Given the description of an element on the screen output the (x, y) to click on. 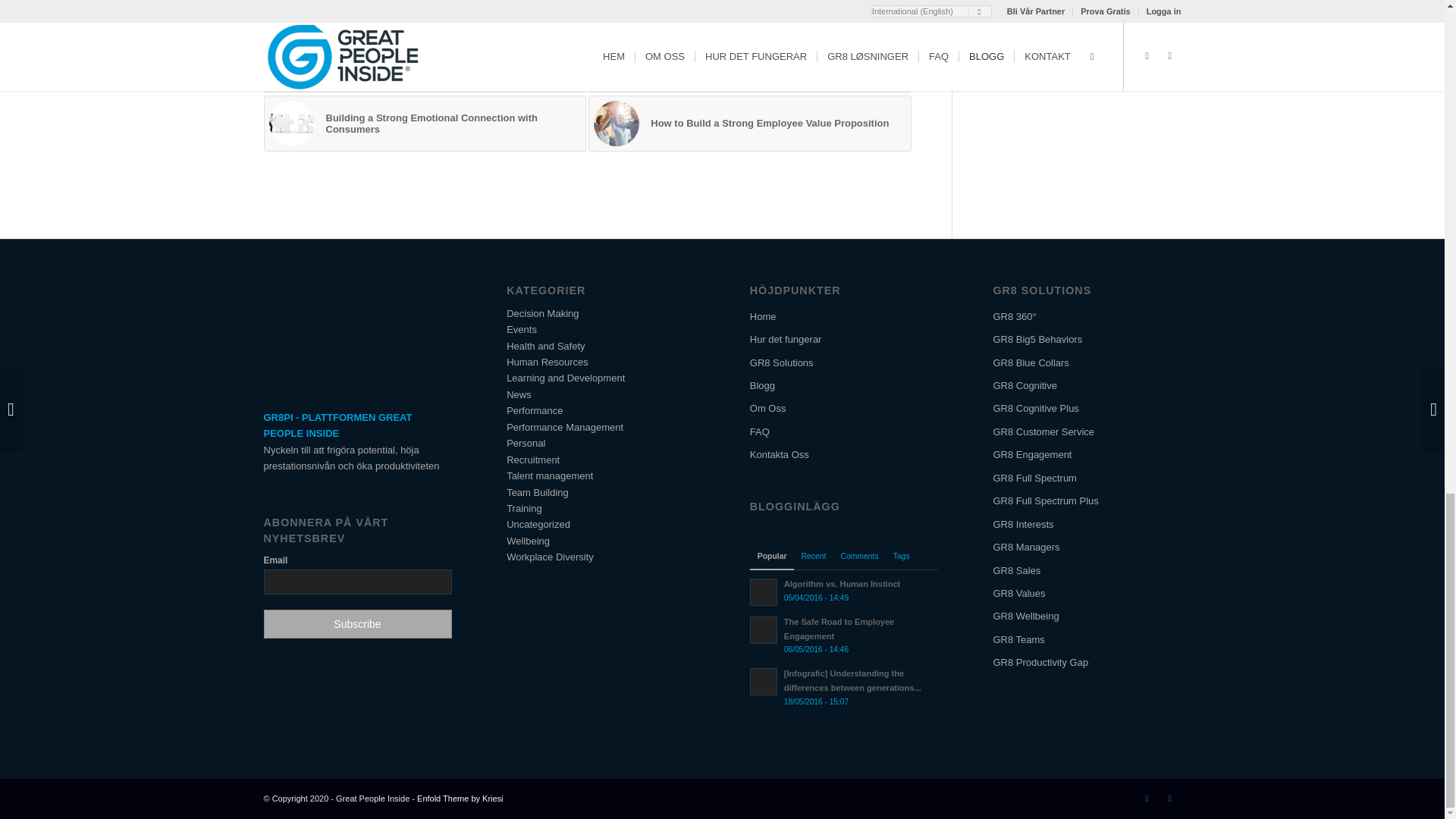
Subscribe (357, 623)
